Given the description of an element on the screen output the (x, y) to click on. 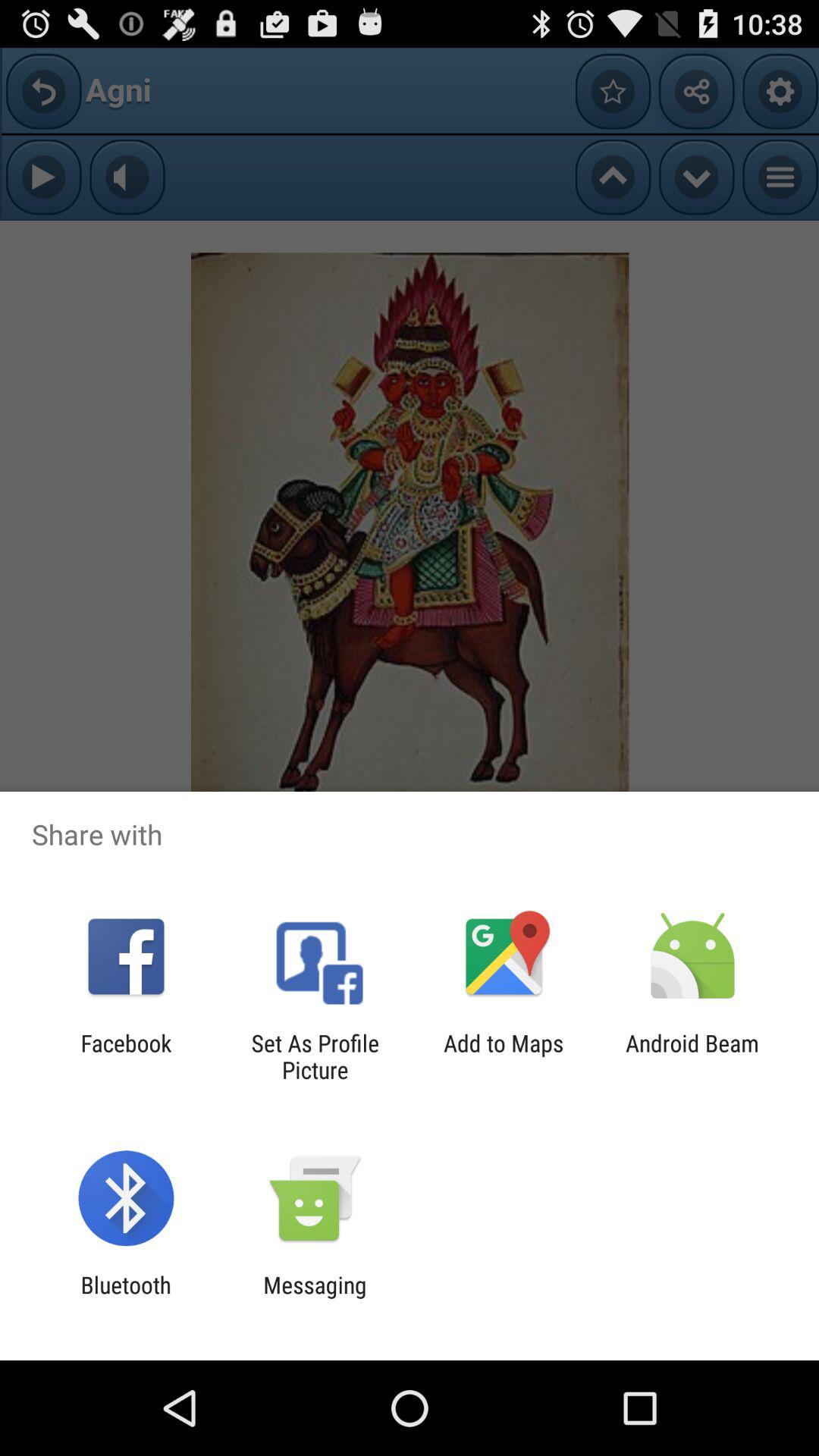
press bluetooth item (125, 1298)
